Given the description of an element on the screen output the (x, y) to click on. 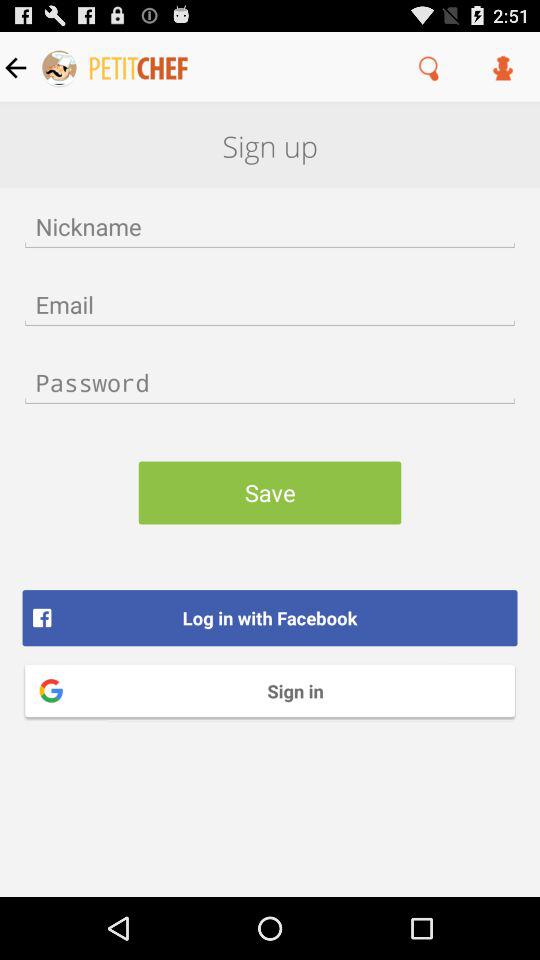
turn off the icon above sign up item (429, 67)
